Given the description of an element on the screen output the (x, y) to click on. 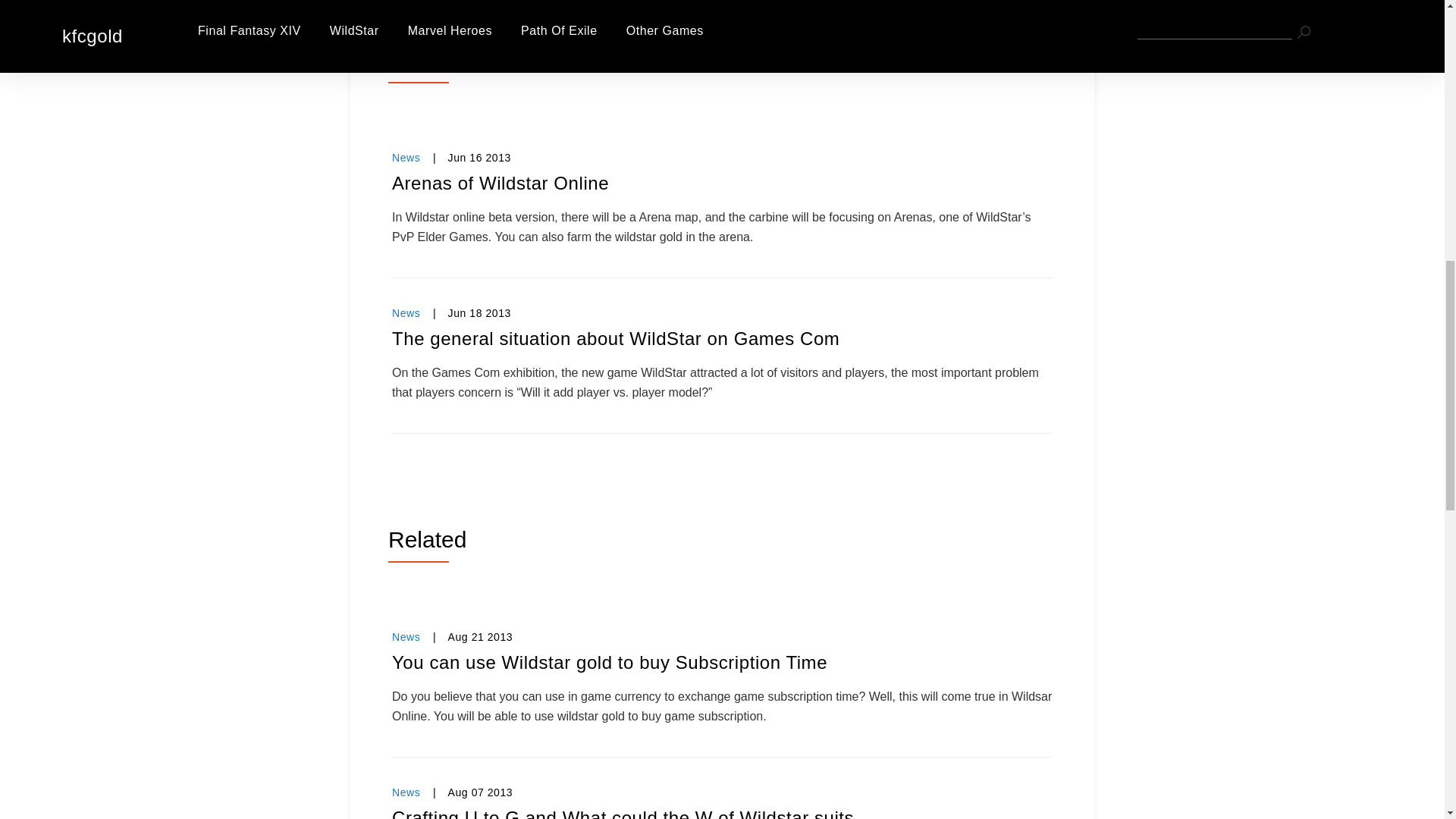
Arenas of Wildstar Online (721, 183)
News (405, 157)
The general situation about WildStar on Games Com (721, 338)
You can use Wildstar gold to buy Subscription Time (721, 662)
News (405, 636)
News (405, 792)
News (405, 313)
Crafting U to G and What could the W of Wildstar suits (721, 812)
